Given the description of an element on the screen output the (x, y) to click on. 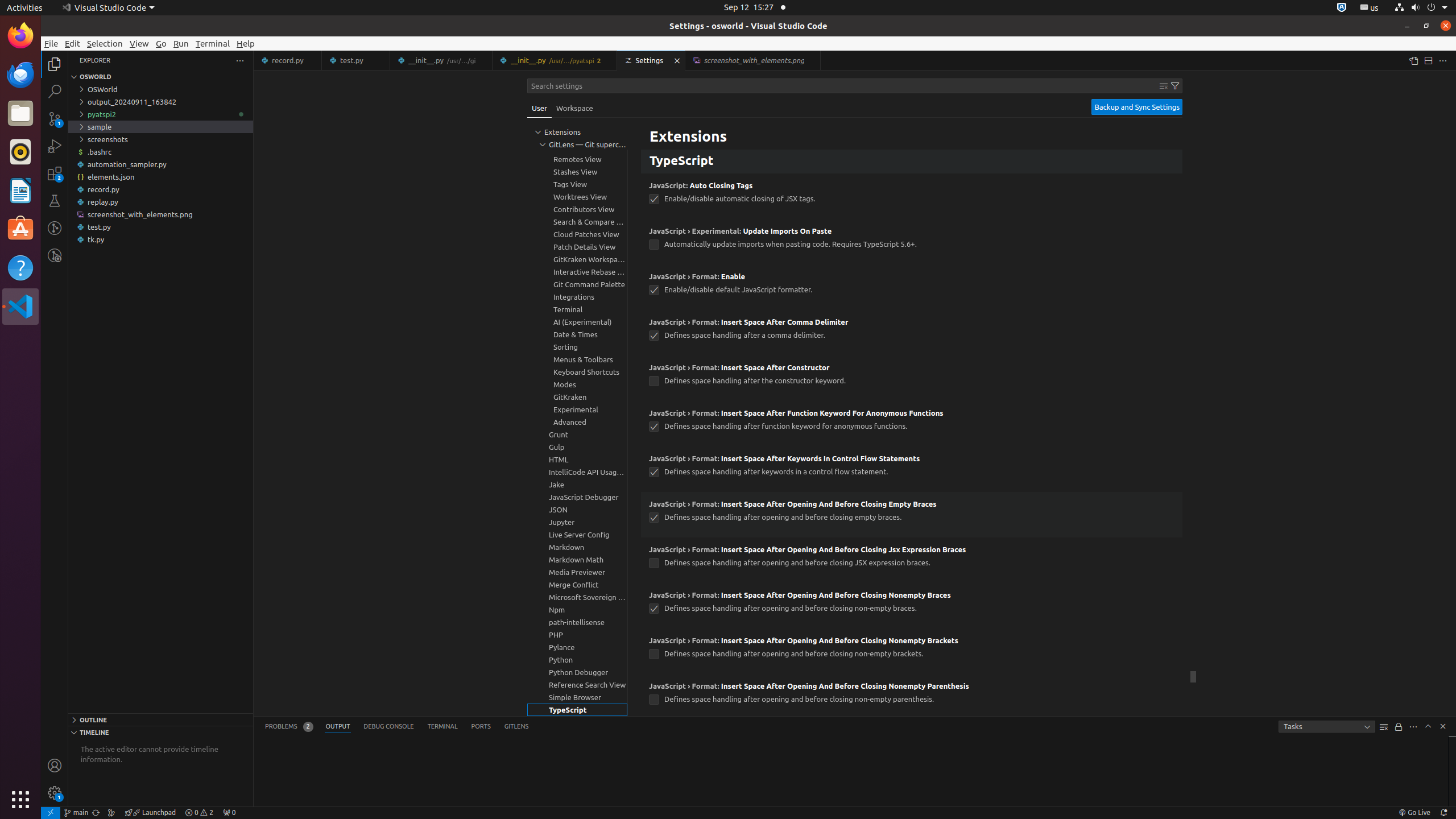
TypeScript Element type: tree-item (911, 161)
More Actions... (Shift+F9) Element type: push-button (634, 684)
Open Settings (JSON) Element type: push-button (1413, 60)
javascript.format.insertSpaceAfterOpeningAndBeforeClosingEmptyBraces Element type: check-box (653, 517)
Integrations, group Element type: tree-item (577, 296)
